Given the description of an element on the screen output the (x, y) to click on. 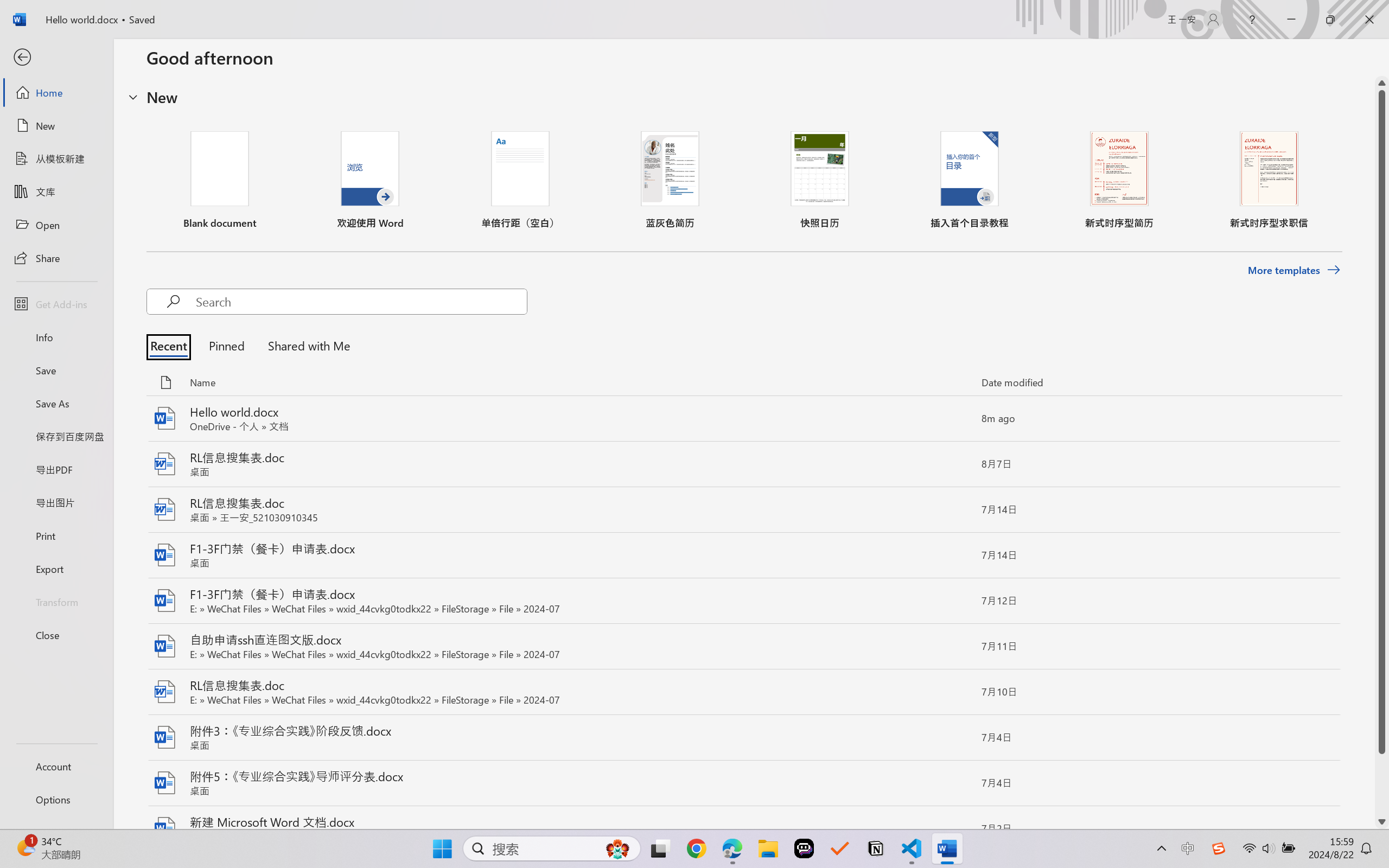
Export (56, 568)
Line down (1382, 821)
Transform (56, 601)
More templates (1293, 270)
Save As (56, 403)
Save (56, 370)
Get Add-ins (56, 303)
New (56, 125)
Recent (171, 345)
